Given the description of an element on the screen output the (x, y) to click on. 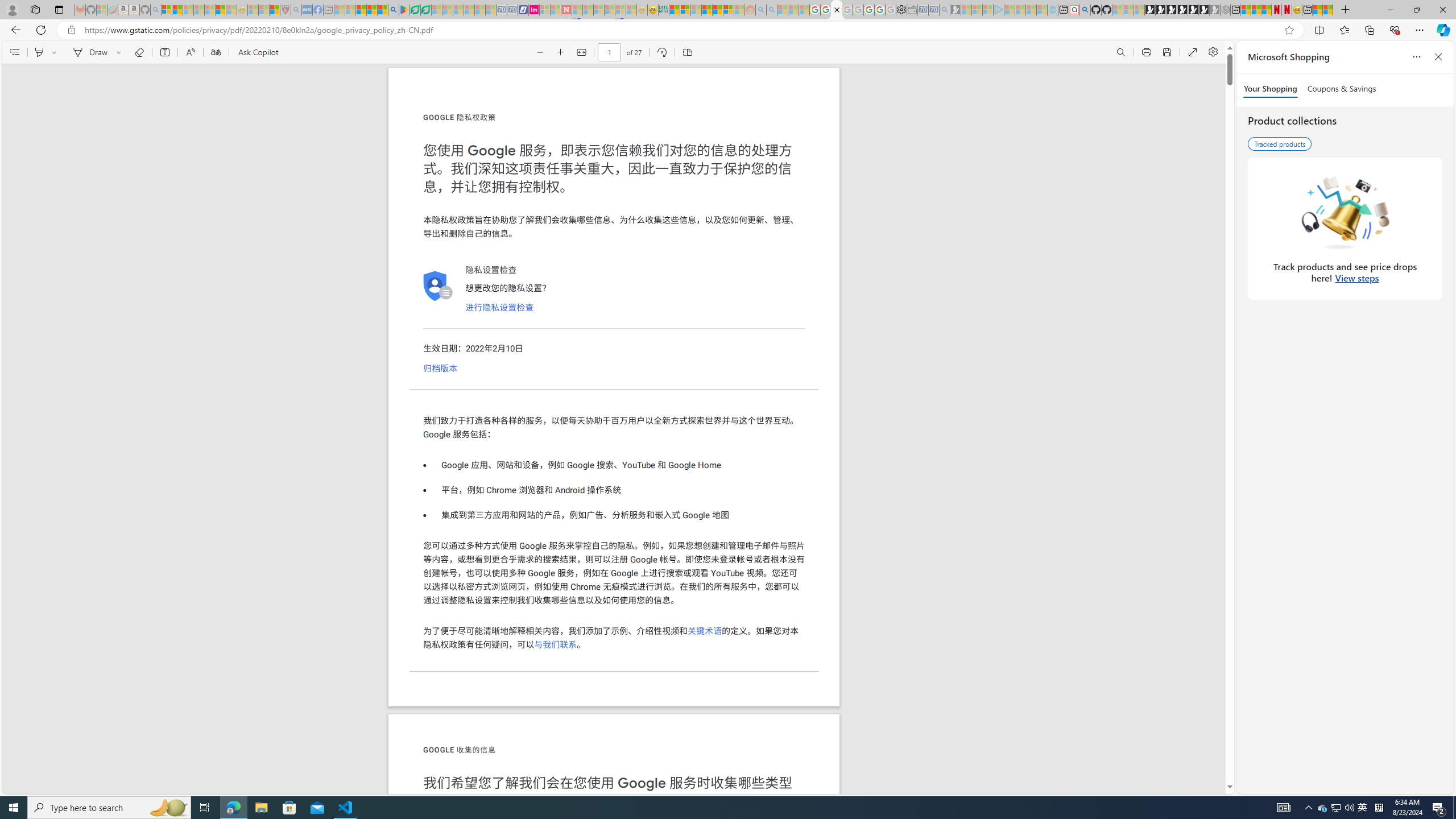
Ask Copilot (257, 52)
Contents (14, 52)
